Given the description of an element on the screen output the (x, y) to click on. 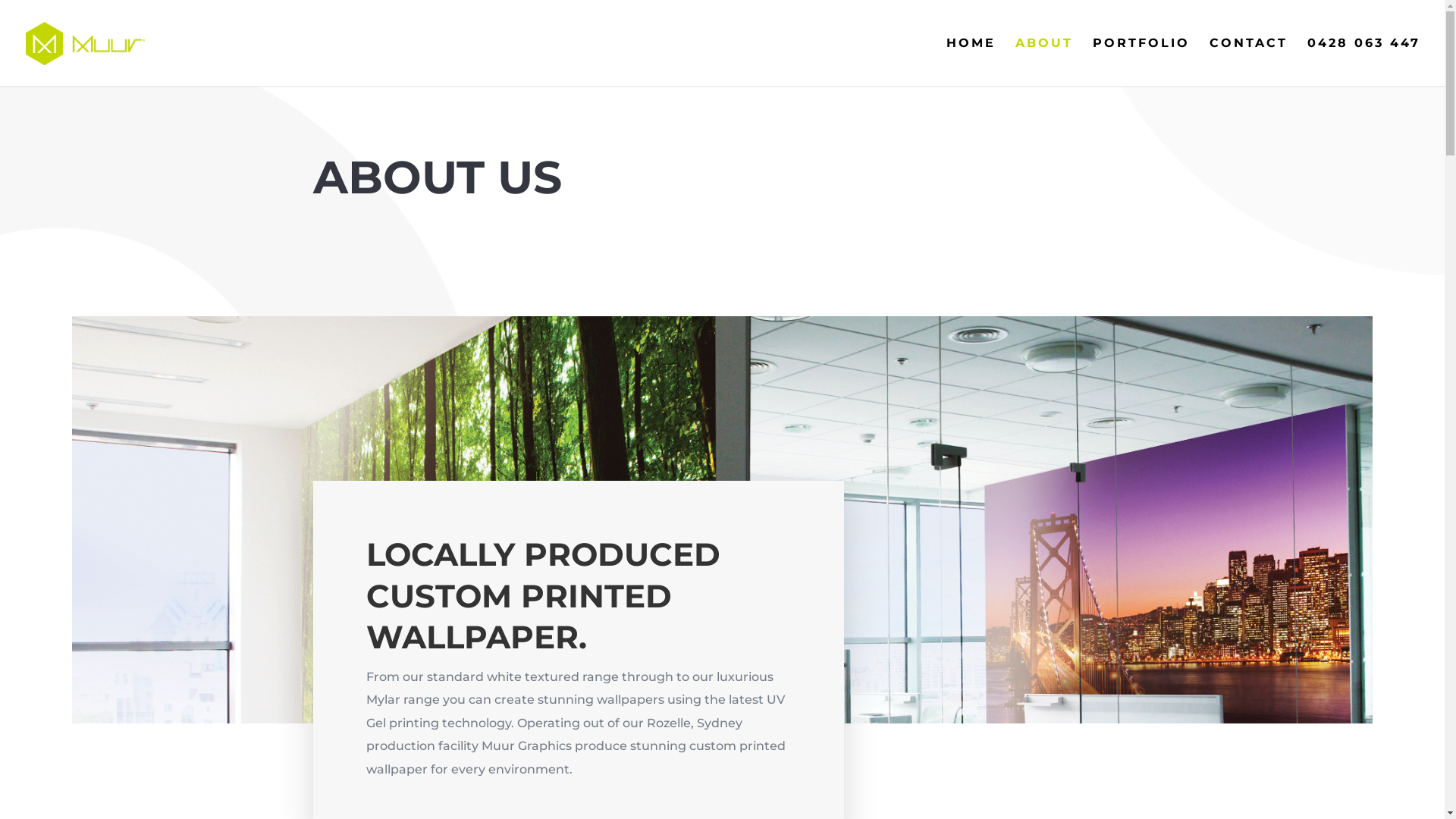
HOME Element type: text (970, 61)
CONTACT Element type: text (1248, 61)
0428 063 447 Element type: text (1363, 61)
PORTFOLIO Element type: text (1140, 61)
ABOUT Element type: text (1044, 61)
